Given the description of an element on the screen output the (x, y) to click on. 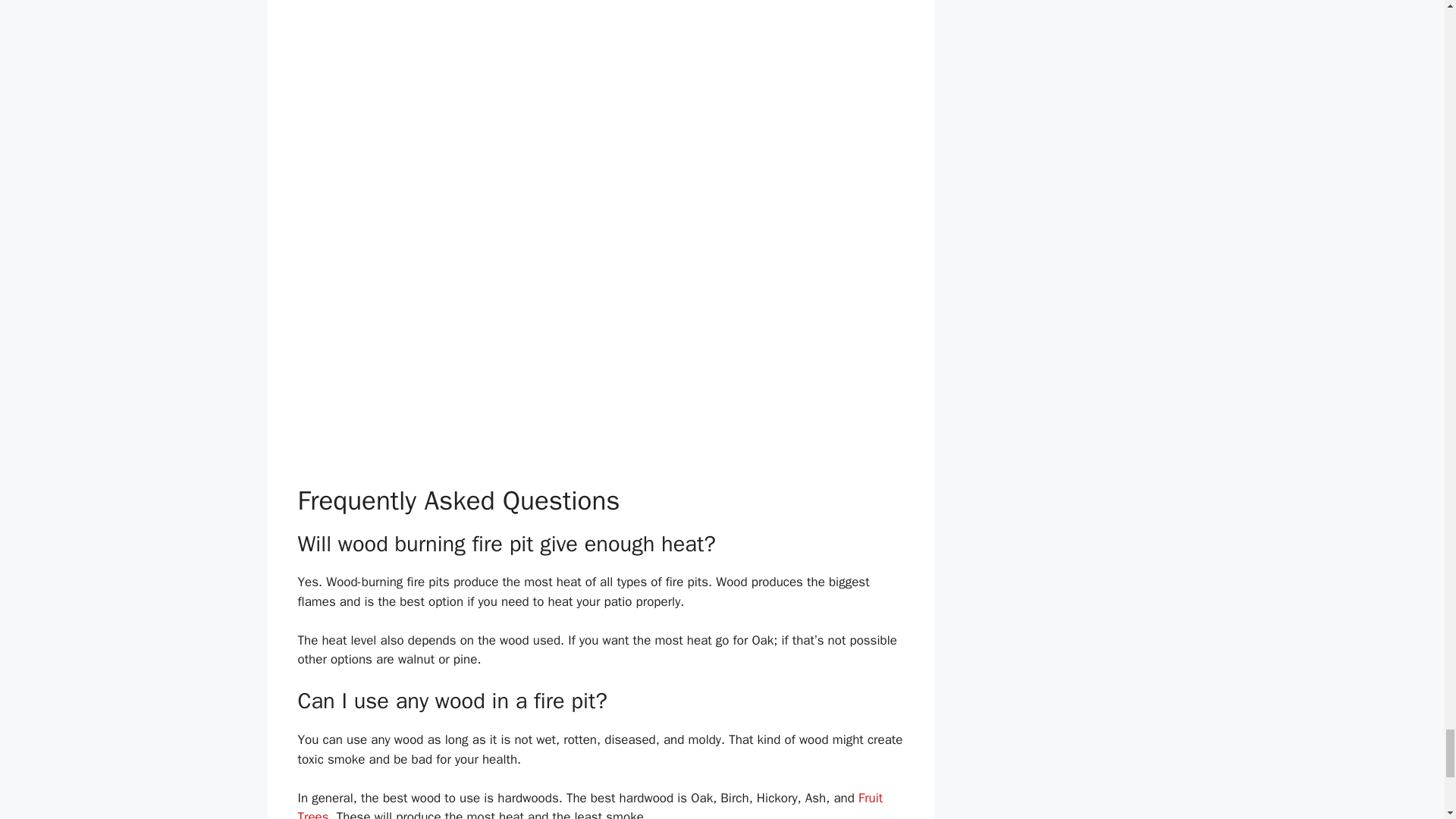
Fruit Trees (589, 804)
